Given the description of an element on the screen output the (x, y) to click on. 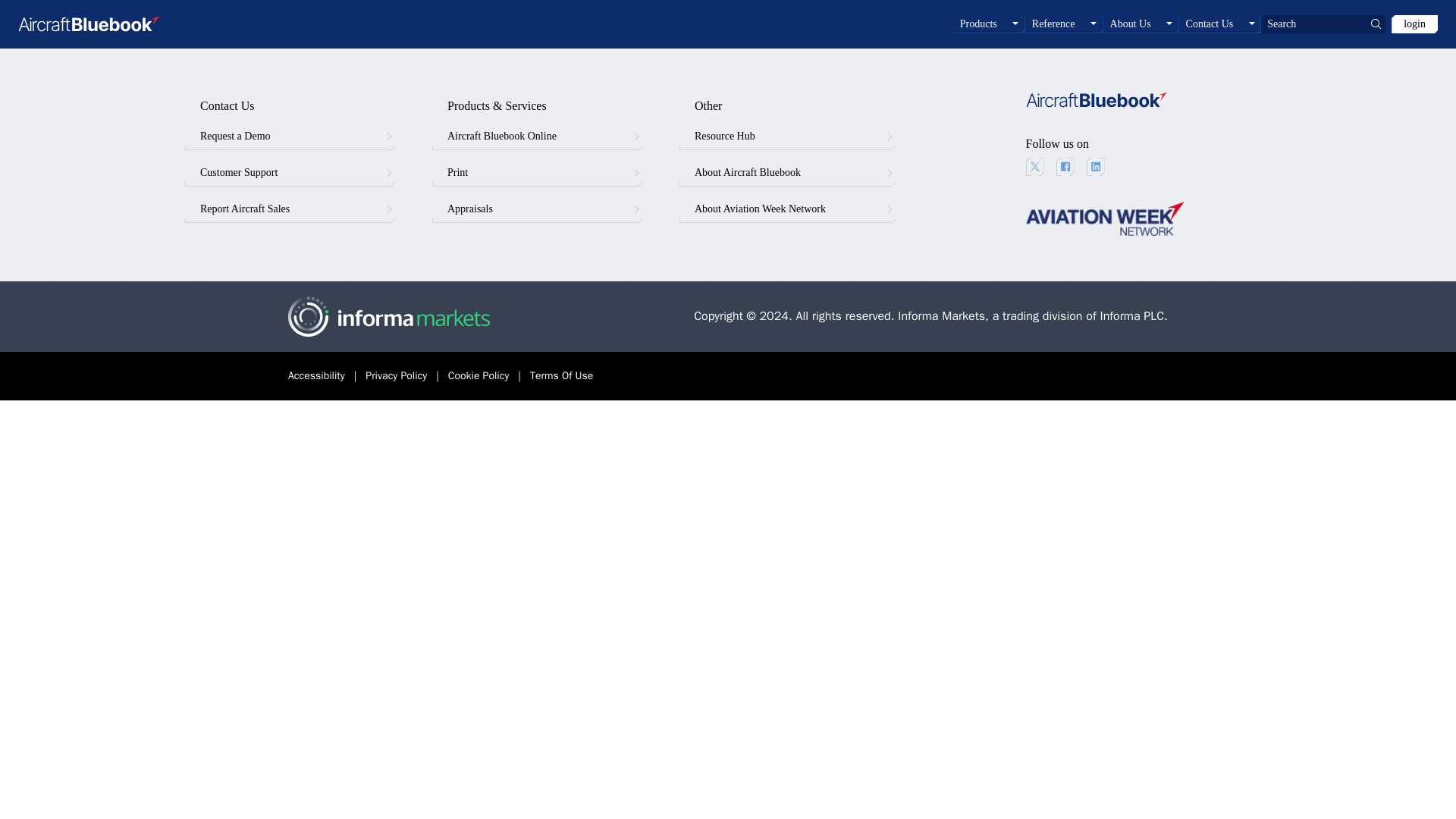
Print (537, 172)
Customer Support (290, 172)
Request a Demo (290, 135)
About Aircraft Bluebook (787, 172)
Appraisals (537, 208)
About Us (1141, 24)
Aircraft Bluebook Online (537, 135)
login (1414, 24)
Report Aircraft Sales (290, 208)
Contact Us (1220, 24)
